Given the description of an element on the screen output the (x, y) to click on. 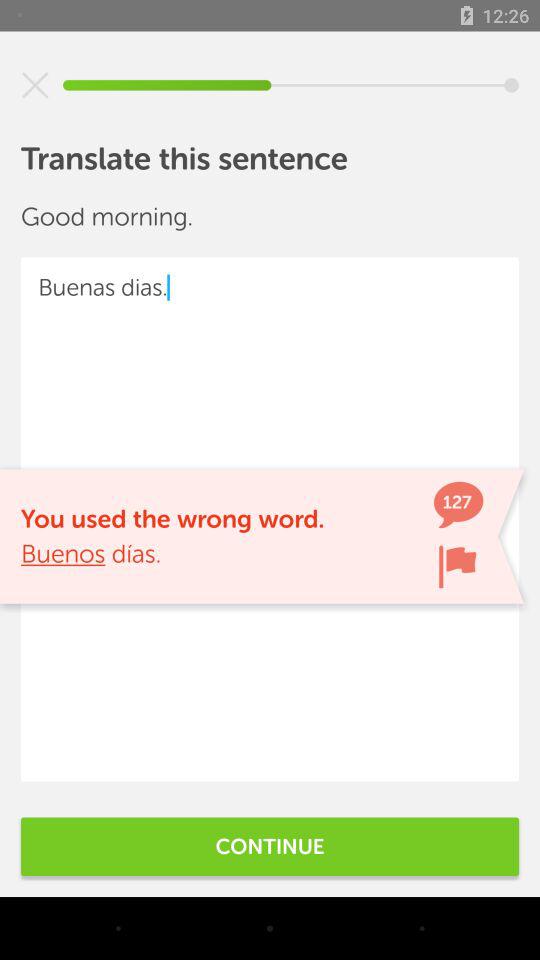
exit (35, 85)
